Given the description of an element on the screen output the (x, y) to click on. 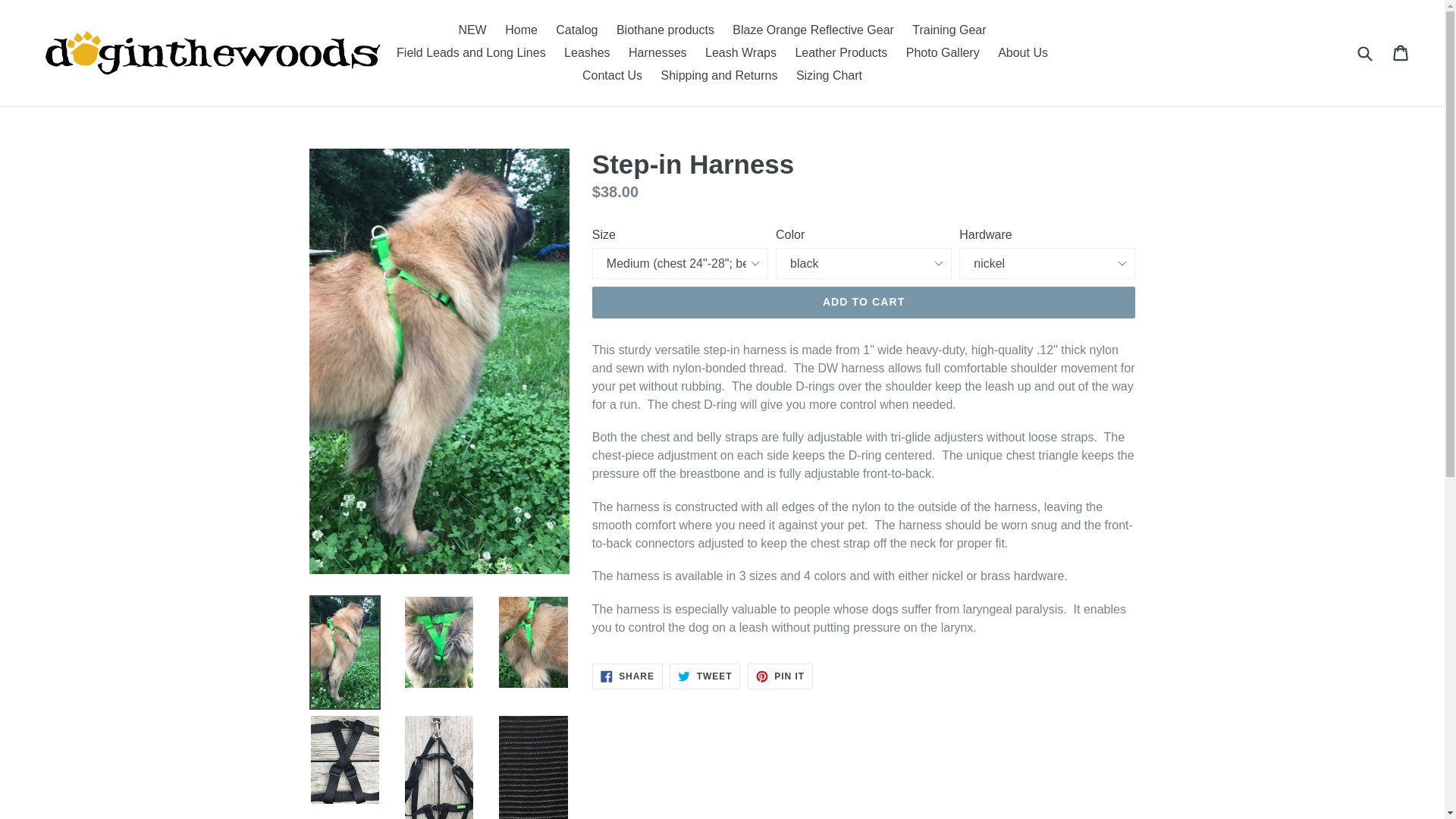
Harnesses (657, 52)
Catalog (576, 29)
Leashes (586, 52)
Tweet on Twitter (704, 676)
Biothane products (665, 29)
Contact Us (612, 75)
Share on Facebook (627, 676)
Training Gear (948, 29)
Home (520, 29)
Field Leads and Long Lines (470, 52)
Shipping and Returns (719, 75)
Sizing Chart (829, 75)
Leash Wraps (740, 52)
Photo Gallery (942, 52)
About Us (1022, 52)
